Given the description of an element on the screen output the (x, y) to click on. 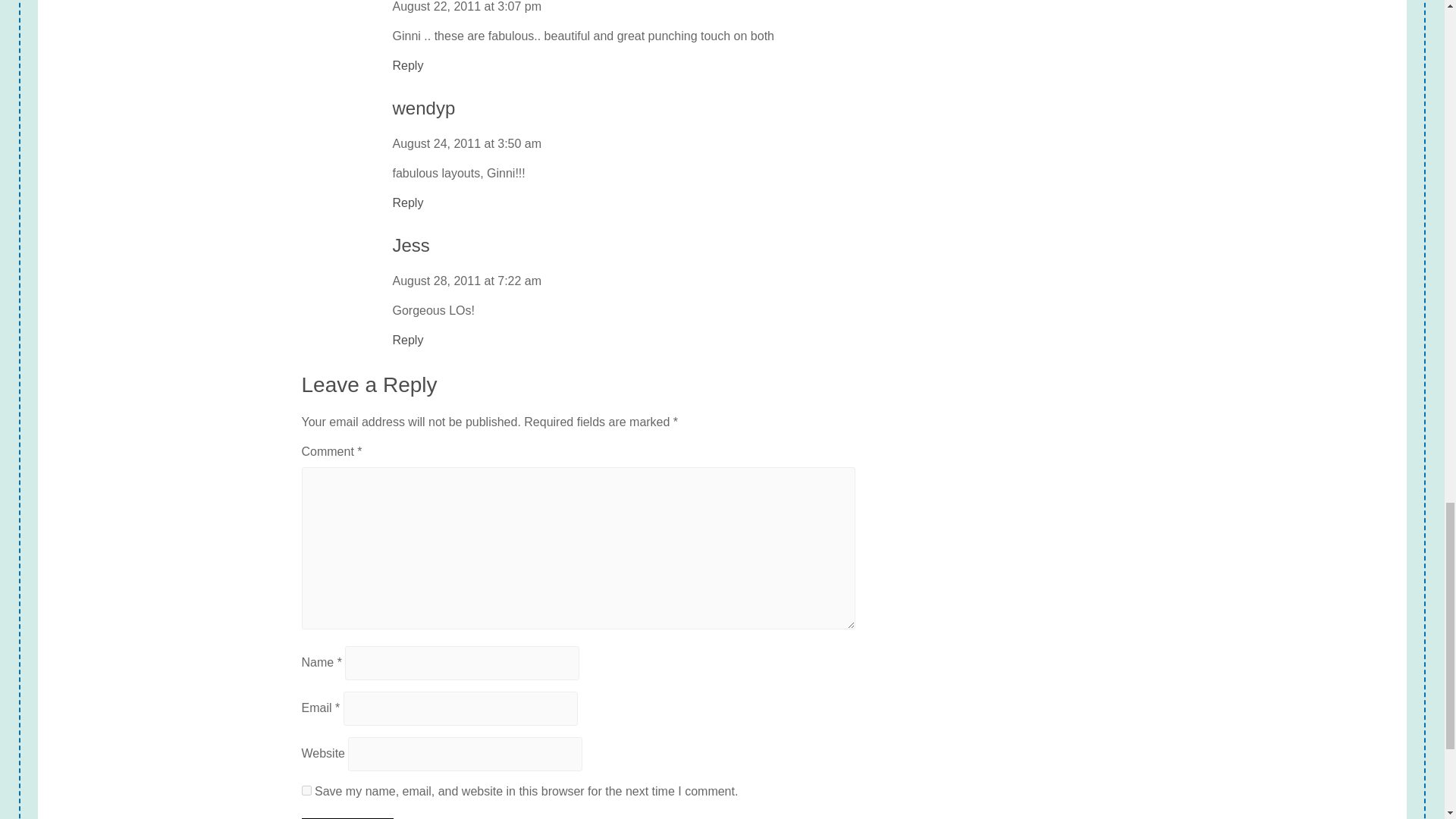
yes (306, 790)
Reply (408, 65)
Jess (411, 246)
Reply (408, 340)
wendyp (424, 108)
Reply (408, 203)
